Given the description of an element on the screen output the (x, y) to click on. 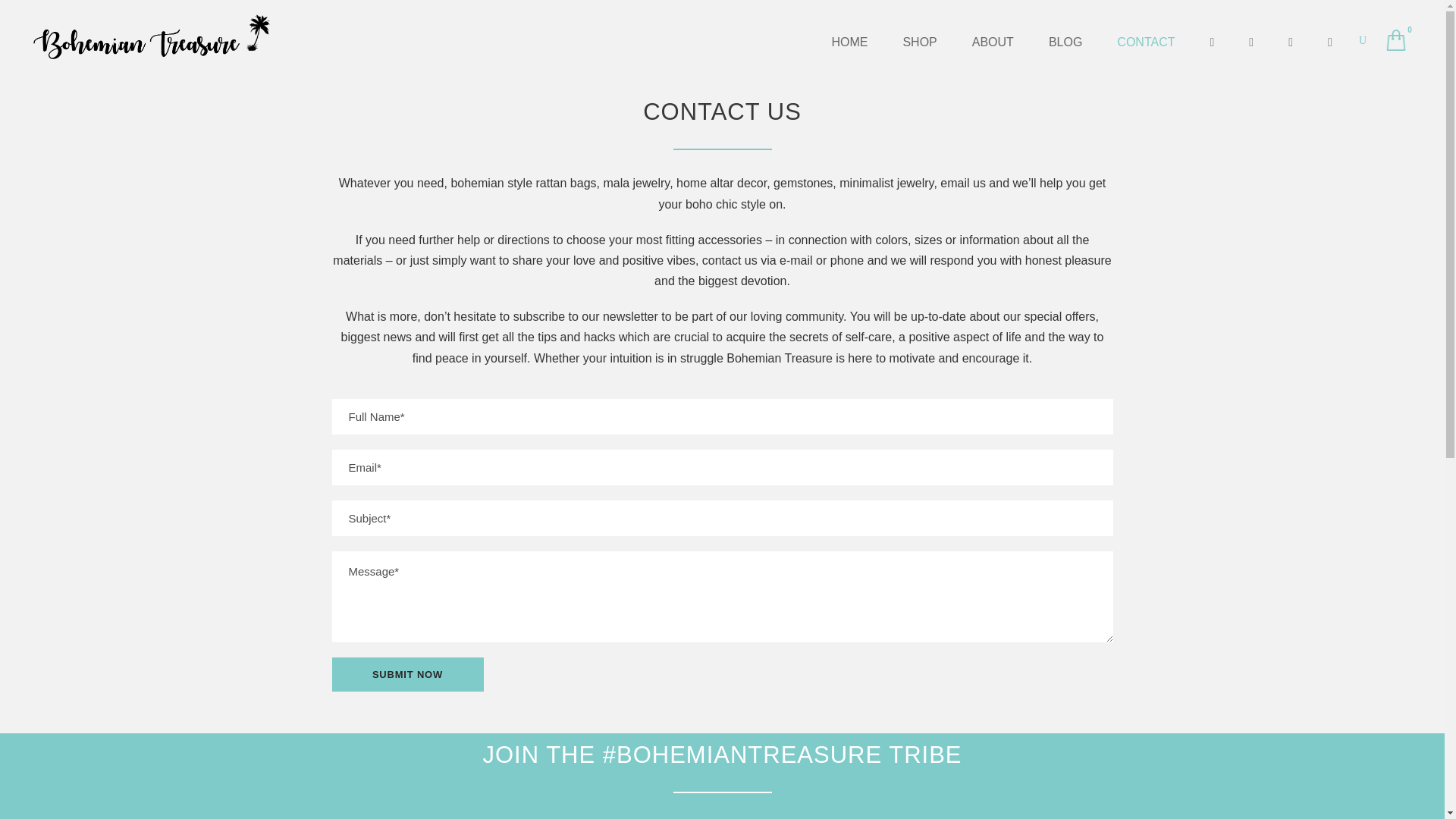
SHOP (919, 41)
HOME (849, 41)
ABOUT (992, 41)
BLOG (1064, 41)
CONTACT (1145, 41)
Submit Now (407, 674)
